Given the description of an element on the screen output the (x, y) to click on. 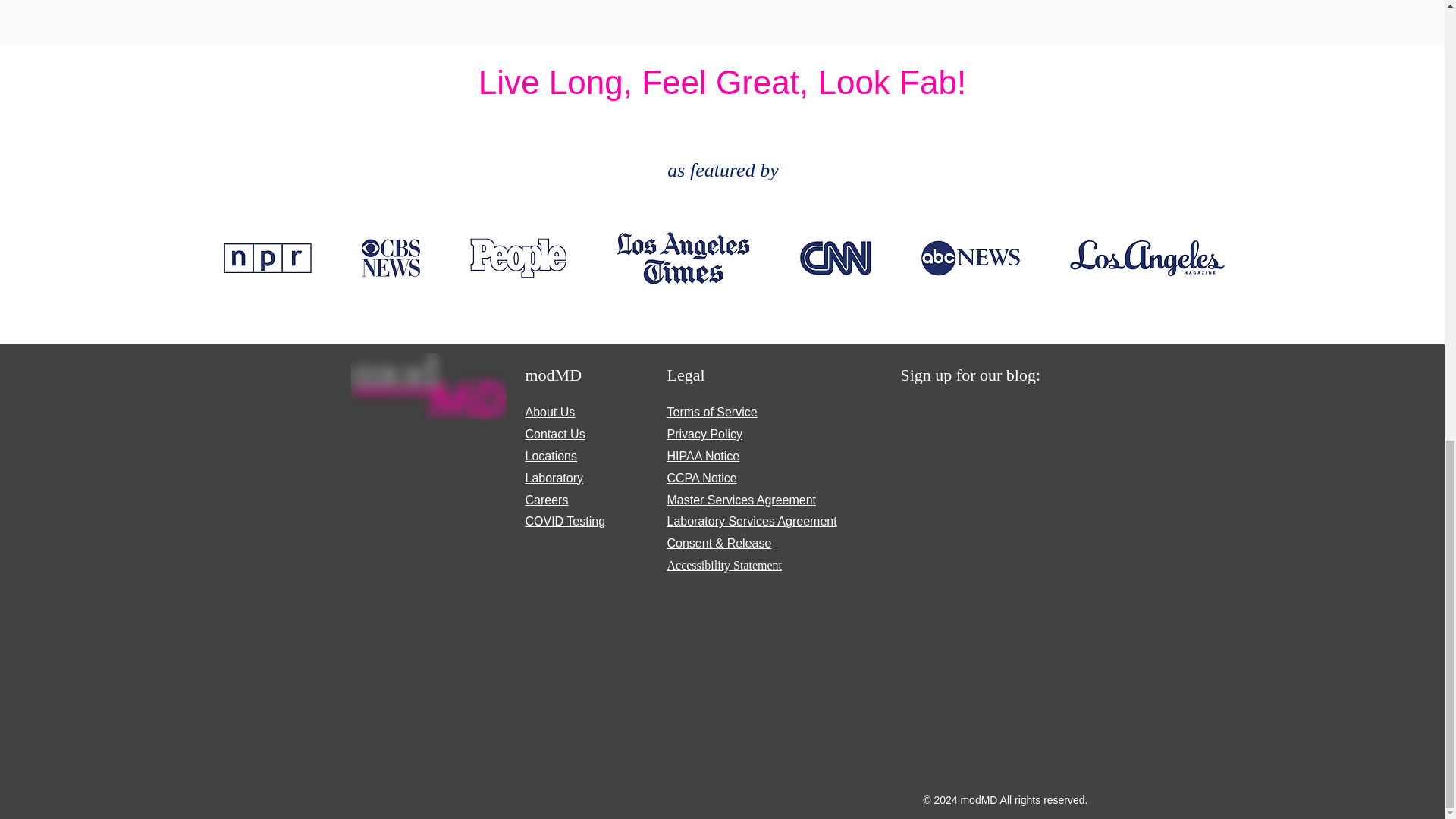
Terms of Service (711, 411)
Contact Us (554, 433)
Locations (550, 455)
COVID Testing (564, 521)
Embedded Content (988, 593)
LegitScript Certificiation (438, 492)
About Us (549, 411)
Laboratory (553, 477)
HIPAA Notice (702, 455)
Privacy Policy (704, 433)
Careers (545, 499)
